Given the description of an element on the screen output the (x, y) to click on. 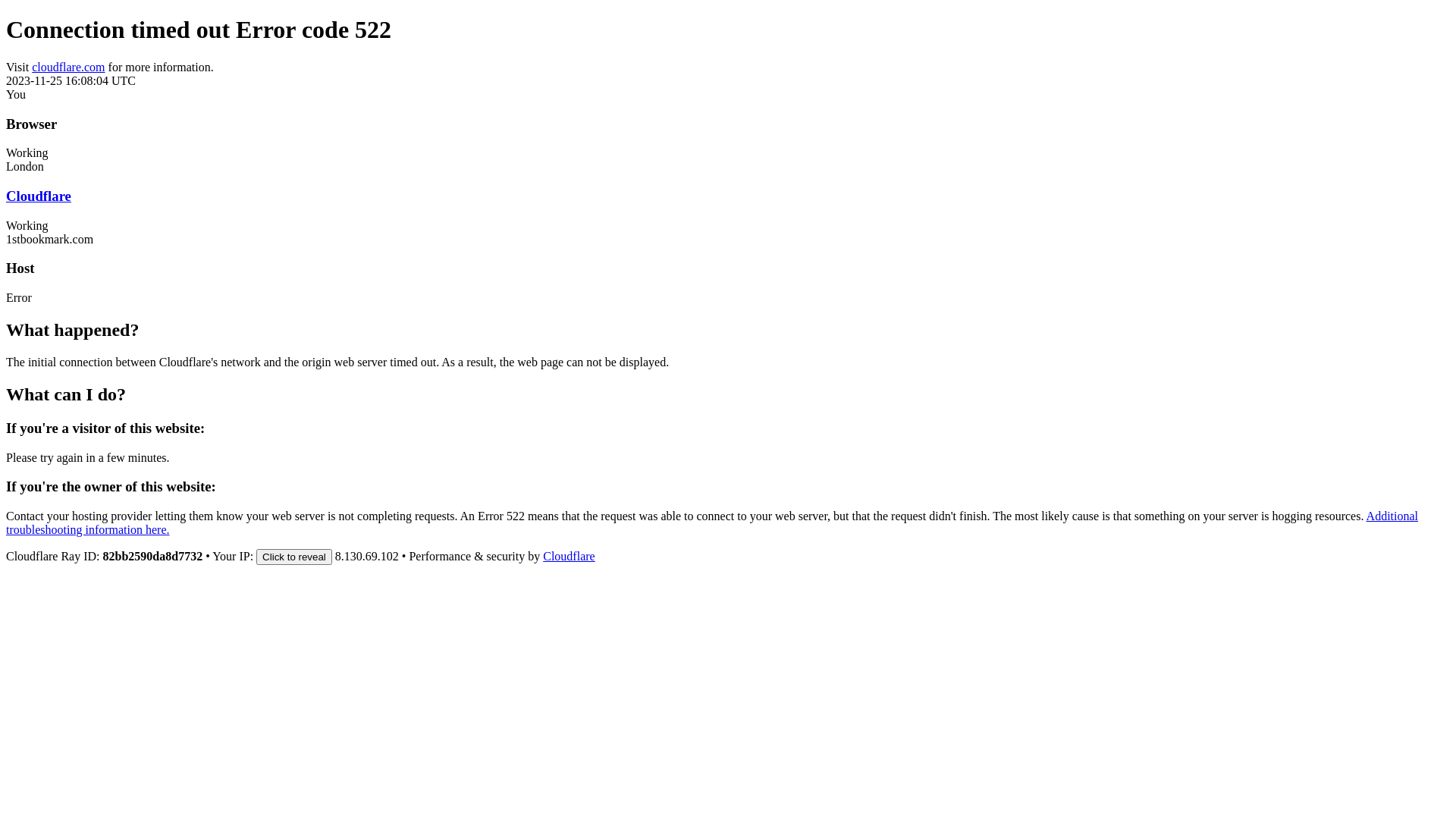
cloudflare.com Element type: text (67, 66)
Click to reveal Element type: text (294, 556)
Additional troubleshooting information here. Element type: text (712, 522)
Cloudflare Element type: text (568, 555)
Cloudflare Element type: text (38, 195)
